Given the description of an element on the screen output the (x, y) to click on. 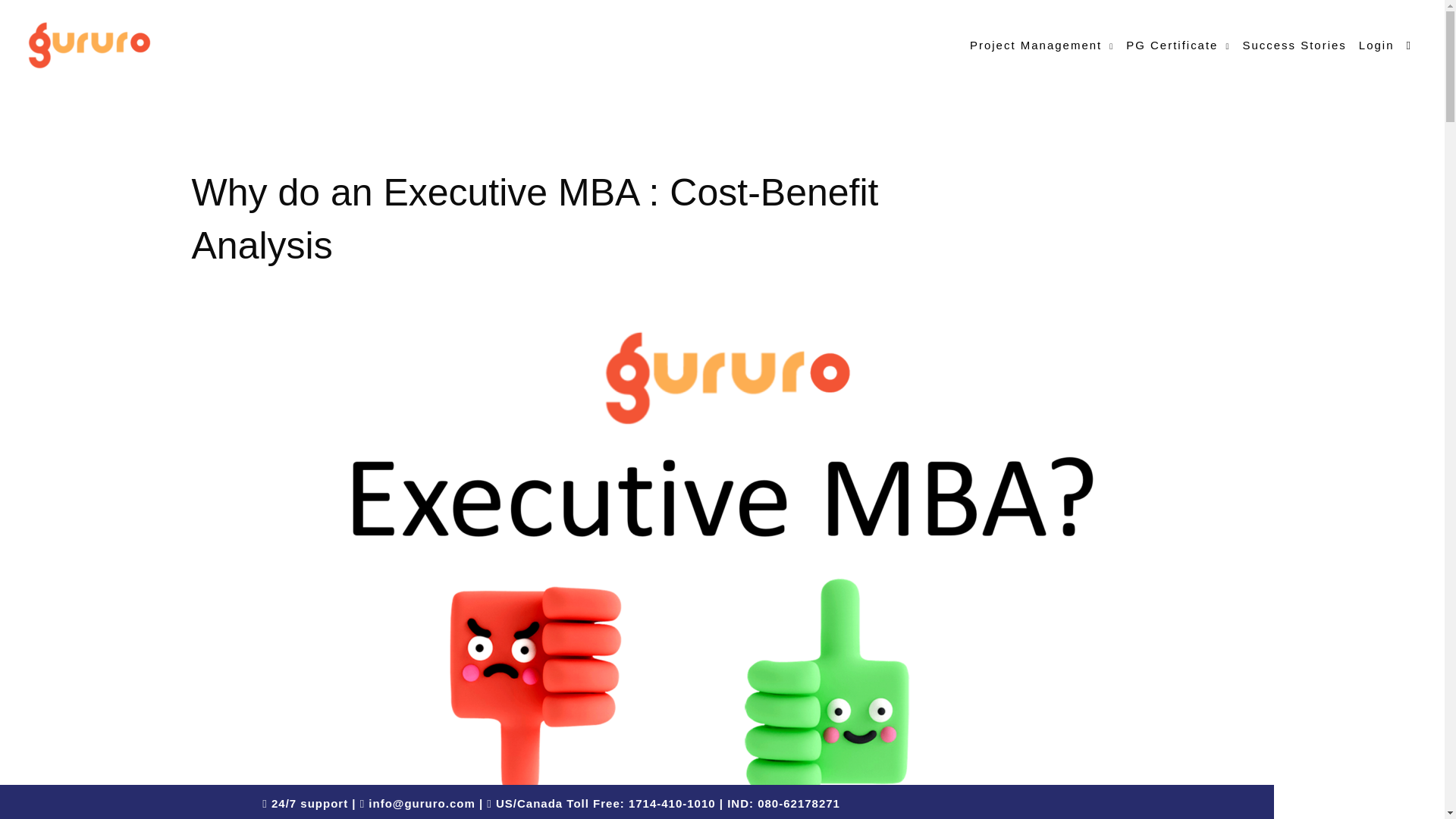
PG Certificate (1177, 44)
Project Management (1041, 44)
Success Stories (1294, 44)
Login (1376, 44)
